Given the description of an element on the screen output the (x, y) to click on. 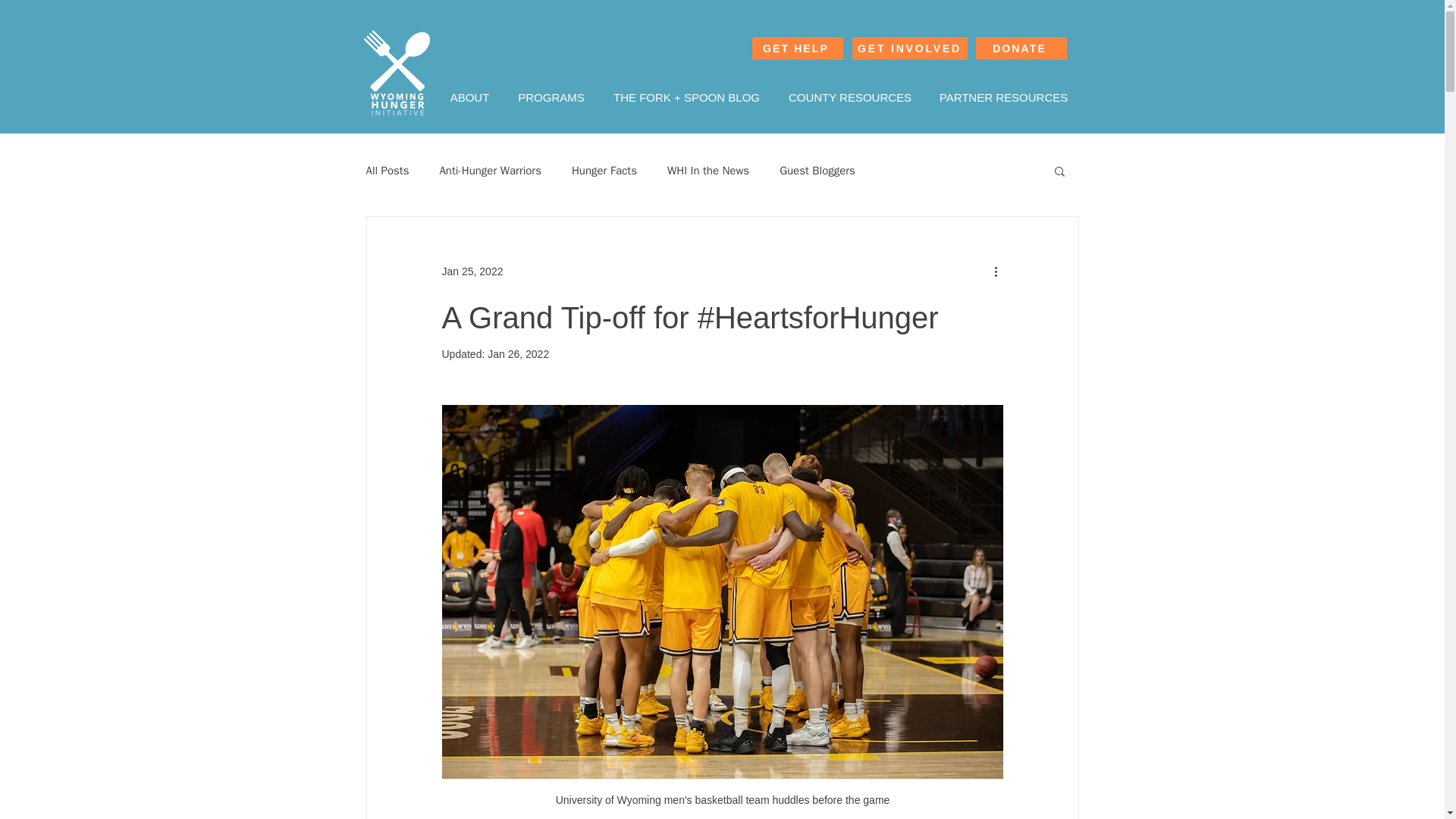
Jan 25, 2022 (471, 271)
PROGRAMS (550, 97)
WHI In the News (707, 170)
Guest Bloggers (817, 170)
ABOUT (469, 97)
COUNTY RESOURCES (850, 97)
DONATE (1020, 47)
All Posts (387, 170)
GET HELP (797, 47)
Jan 26, 2022 (517, 354)
